Given the description of an element on the screen output the (x, y) to click on. 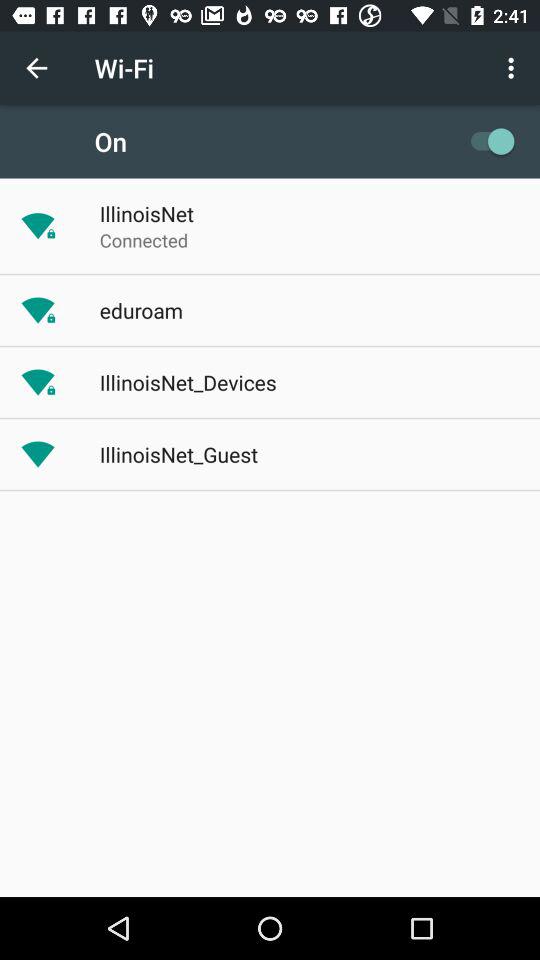
launch the connected (143, 239)
